Given the description of an element on the screen output the (x, y) to click on. 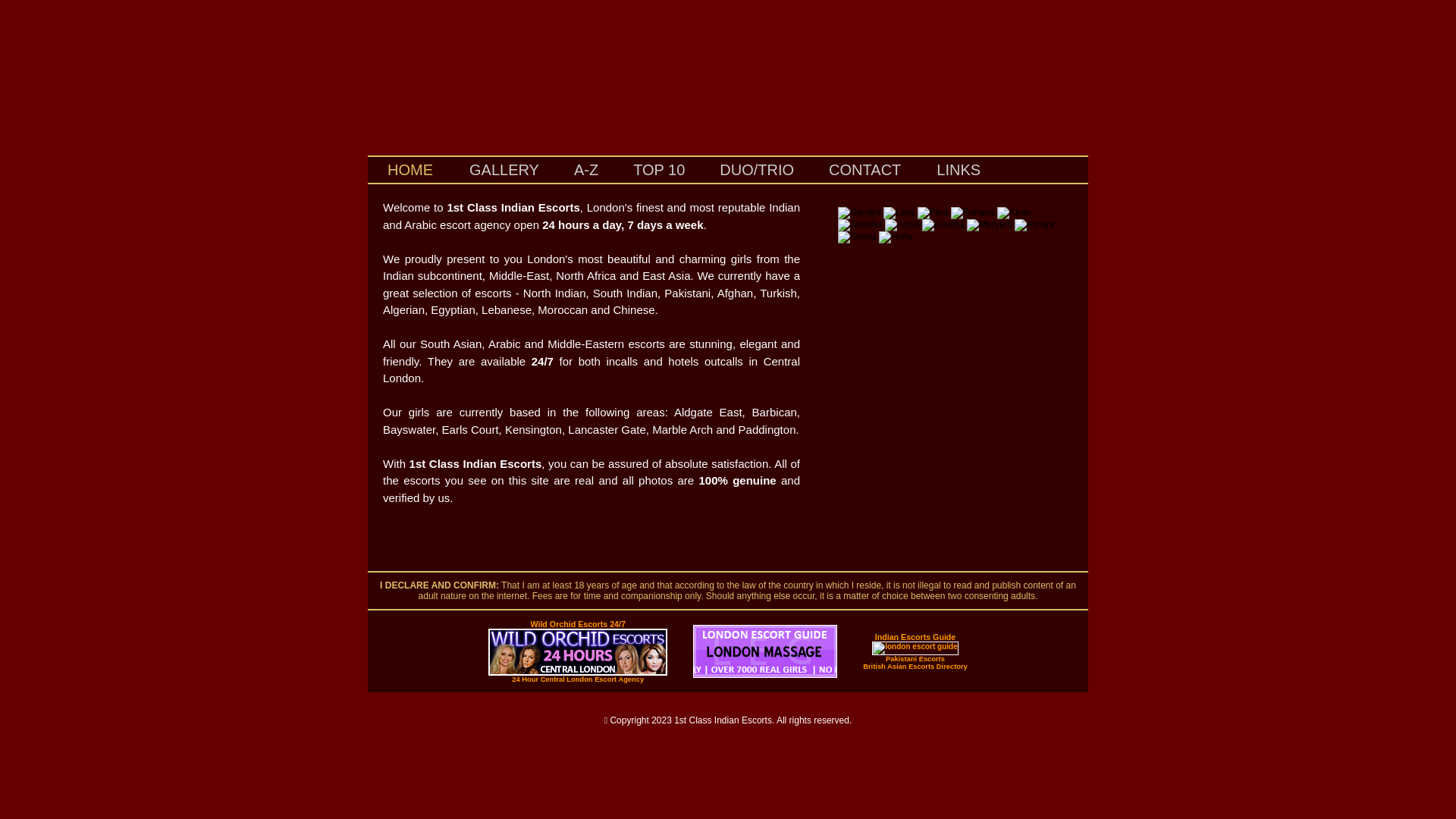
Pakistani Escorts Element type: text (914, 658)
TOP 10 Element type: text (658, 170)
Indian Escorts Guide Element type: text (915, 637)
DUO/TRIO Element type: text (755, 170)
HOME Element type: text (410, 168)
GALLERY Element type: text (503, 170)
Wild Orchid Escorts 24/7 Element type: text (577, 624)
A-Z Element type: text (585, 170)
London Escort Guide Element type: hover (765, 675)
24 Hour Central London Escort Agency Element type: text (577, 678)
LINKS Element type: text (958, 168)
CONTACT Element type: text (864, 170)
British Asian Escorts Directory Element type: text (914, 666)
